Given the description of an element on the screen output the (x, y) to click on. 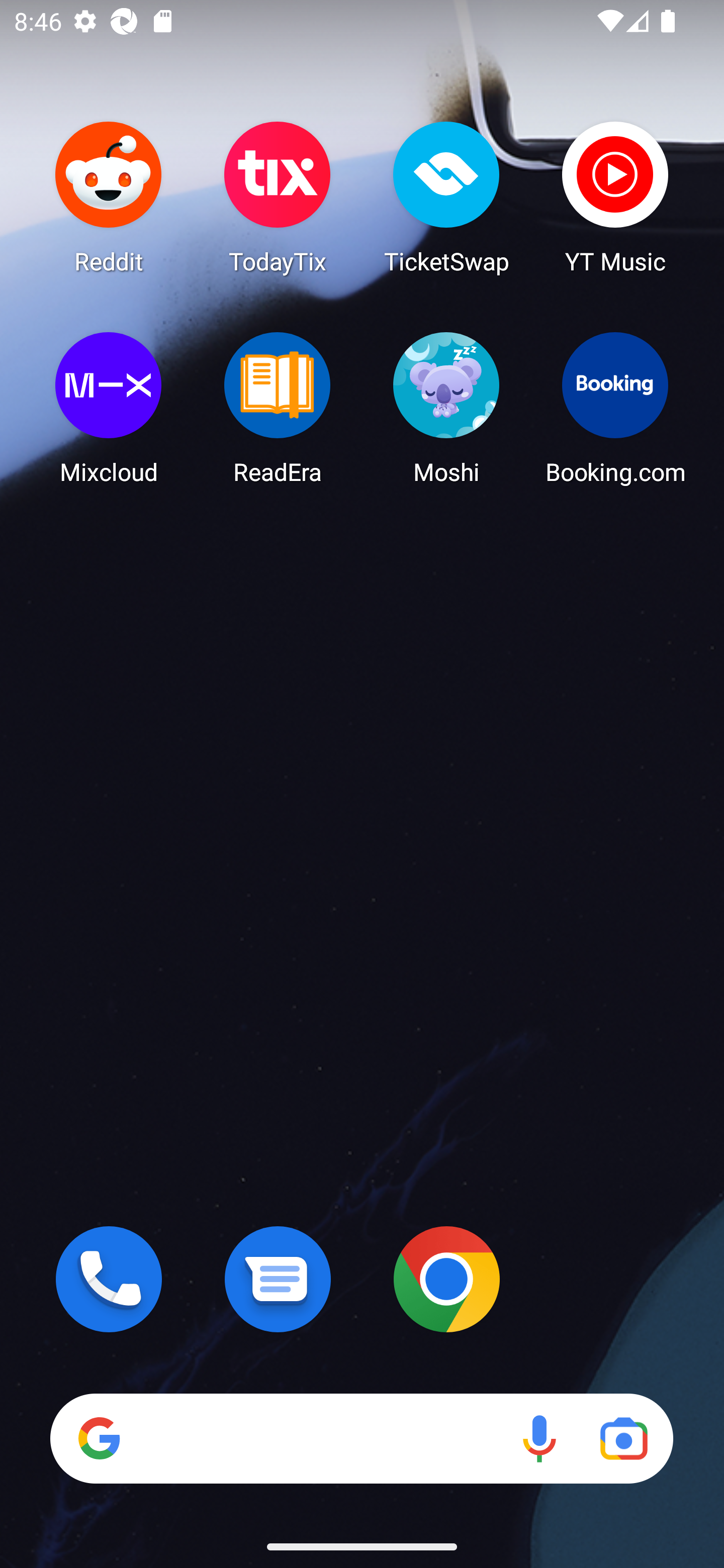
Reddit (108, 196)
TodayTix (277, 196)
TicketSwap (445, 196)
YT Music (615, 196)
Mixcloud (108, 407)
ReadEra (277, 407)
Moshi (445, 407)
Booking.com (615, 407)
Phone (108, 1279)
Messages (277, 1279)
Chrome (446, 1279)
Search Voice search Google Lens (361, 1438)
Voice search (539, 1438)
Google Lens (623, 1438)
